Given the description of an element on the screen output the (x, y) to click on. 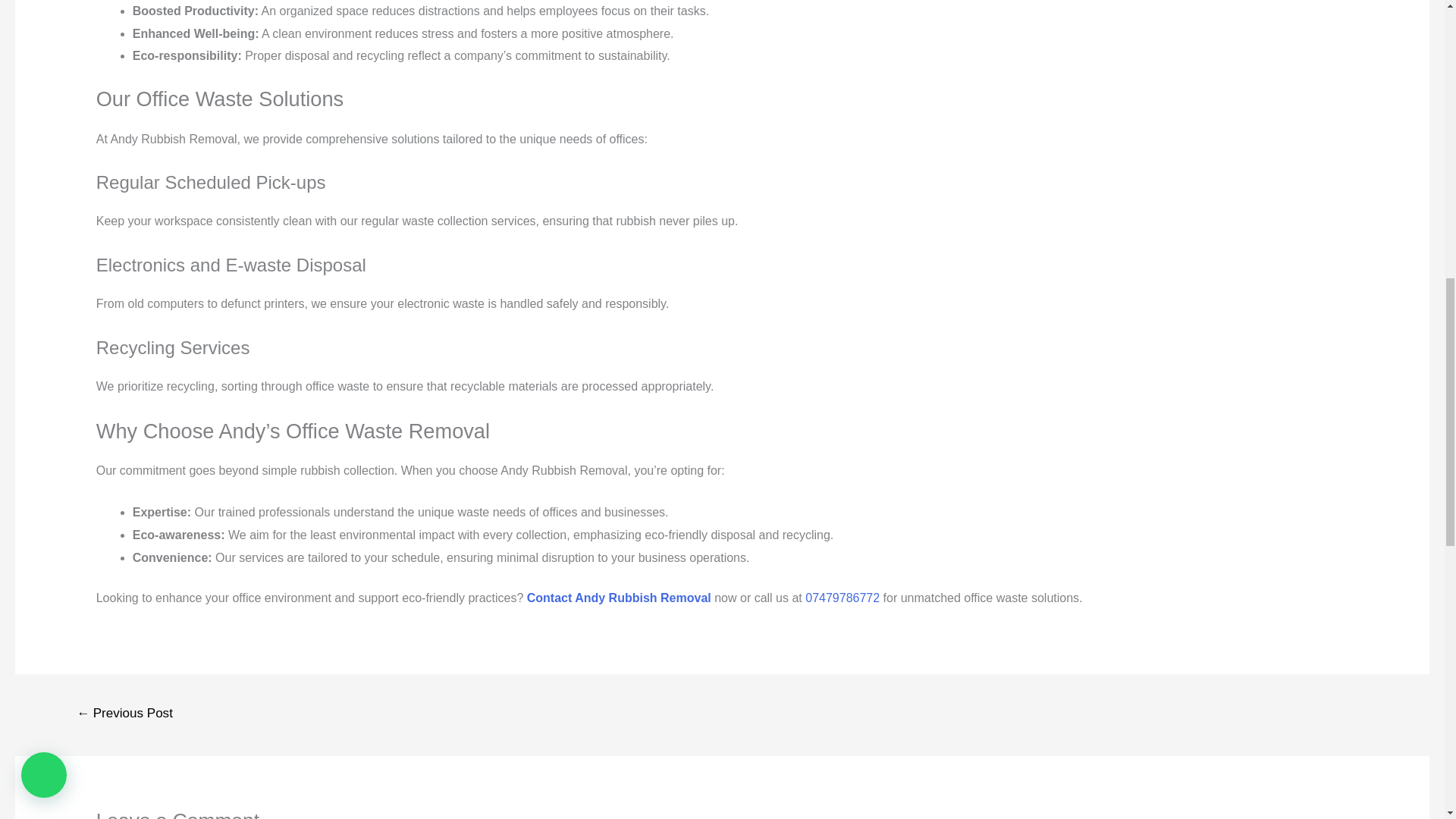
Contact Andy Rubbish Removal (619, 597)
07479786772 (842, 597)
